Given the description of an element on the screen output the (x, y) to click on. 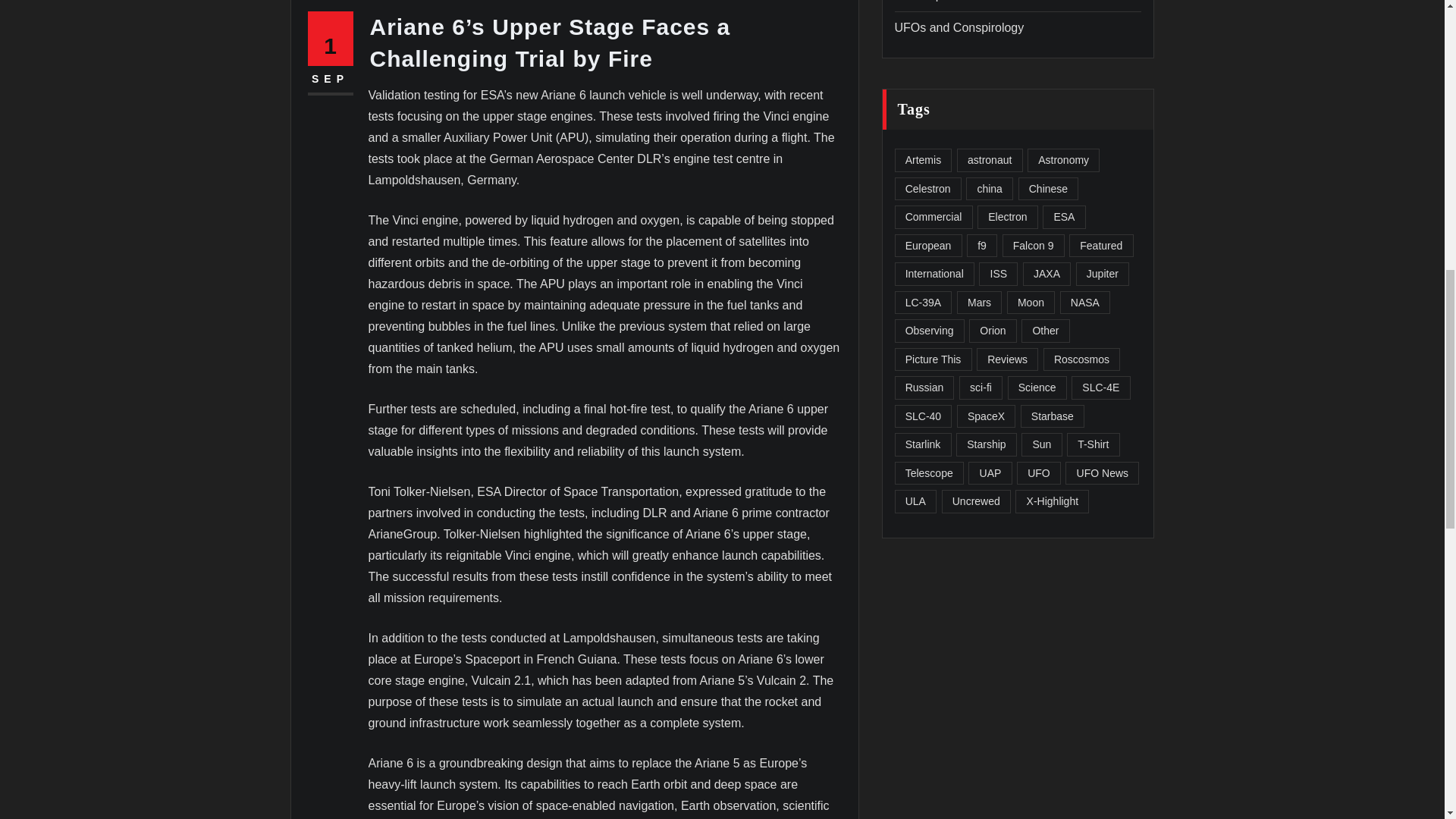
Chinese (1047, 188)
Commercial (933, 217)
European (928, 245)
china (989, 188)
Celestron (927, 188)
JAXA (1046, 273)
Featured (1100, 245)
f9 (981, 245)
astronaut (989, 159)
International (934, 273)
ISS (997, 273)
Falcon 9 (1033, 245)
Artemis (923, 159)
ESA (1063, 217)
Astronomy (1063, 159)
